Given the description of an element on the screen output the (x, y) to click on. 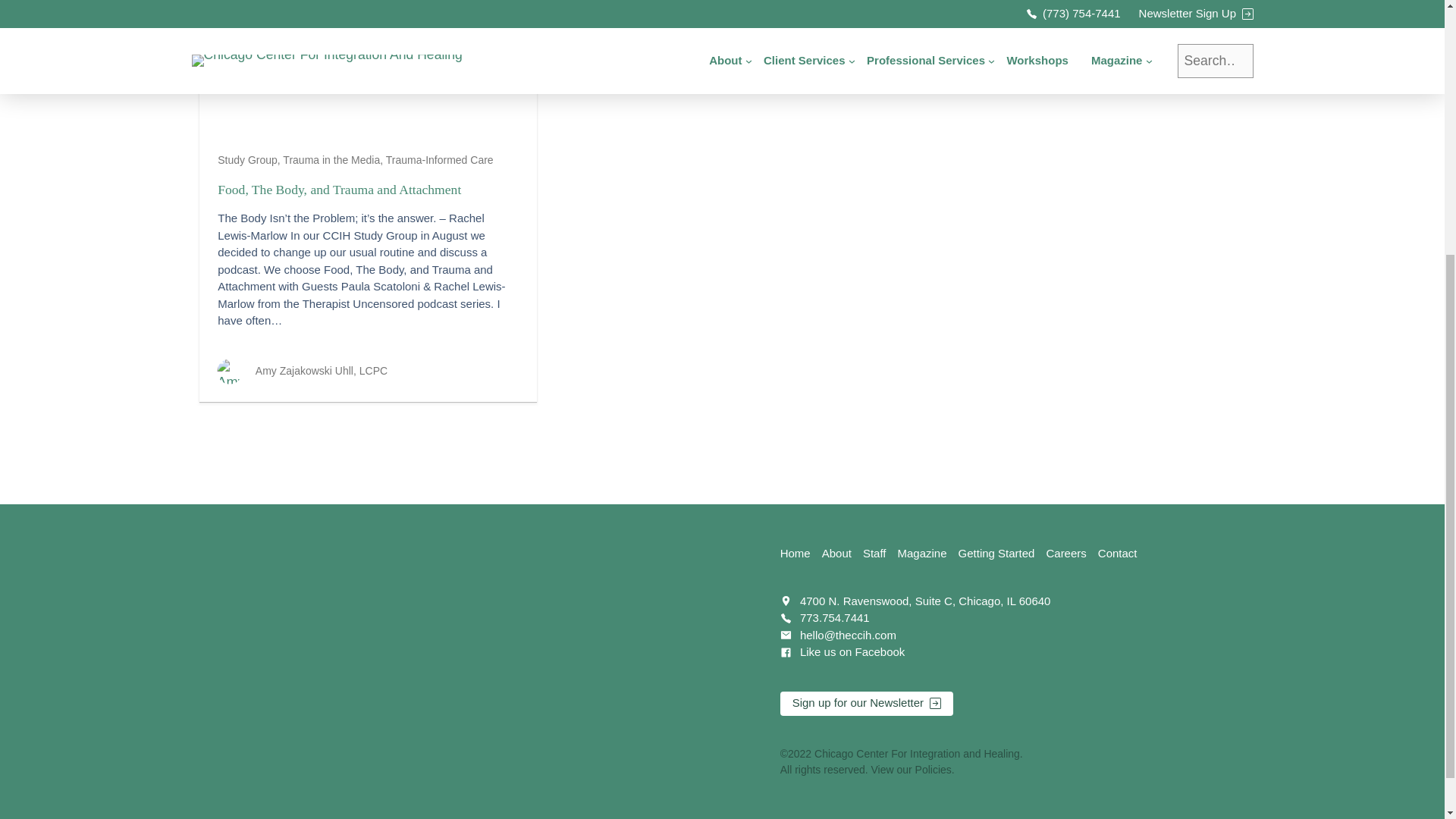
Study Group (247, 159)
Trauma-Informed Care (439, 159)
Trauma in the Media (331, 159)
